Given the description of an element on the screen output the (x, y) to click on. 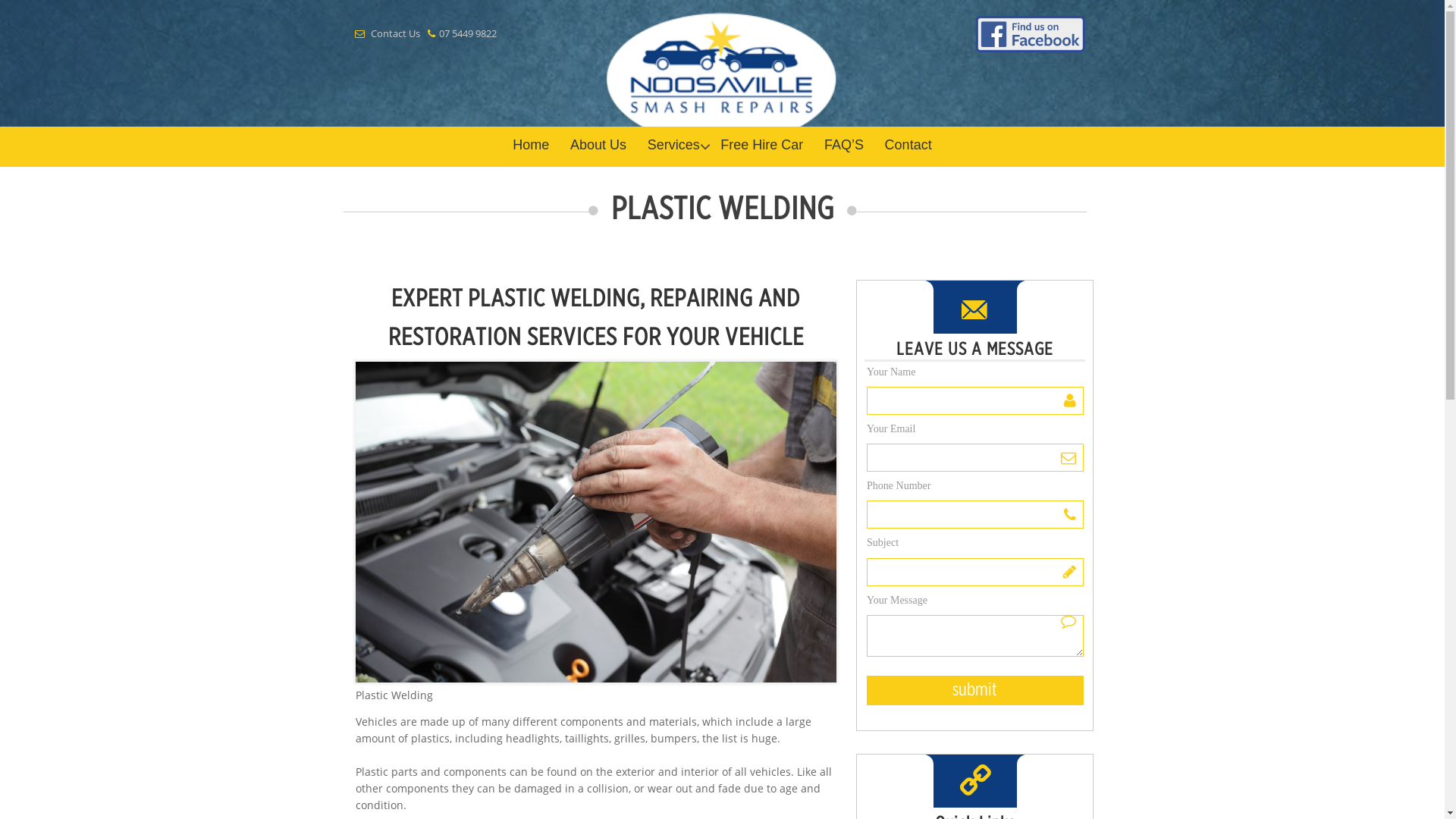
Home Element type: text (530, 145)
Free Hire Car Element type: text (761, 145)
Services Element type: text (673, 145)
Contact Element type: text (908, 145)
About Us Element type: text (598, 145)
07 5449 9822 Element type: text (467, 33)
submit Element type: text (974, 690)
Contact Us Element type: text (395, 33)
